Given the description of an element on the screen output the (x, y) to click on. 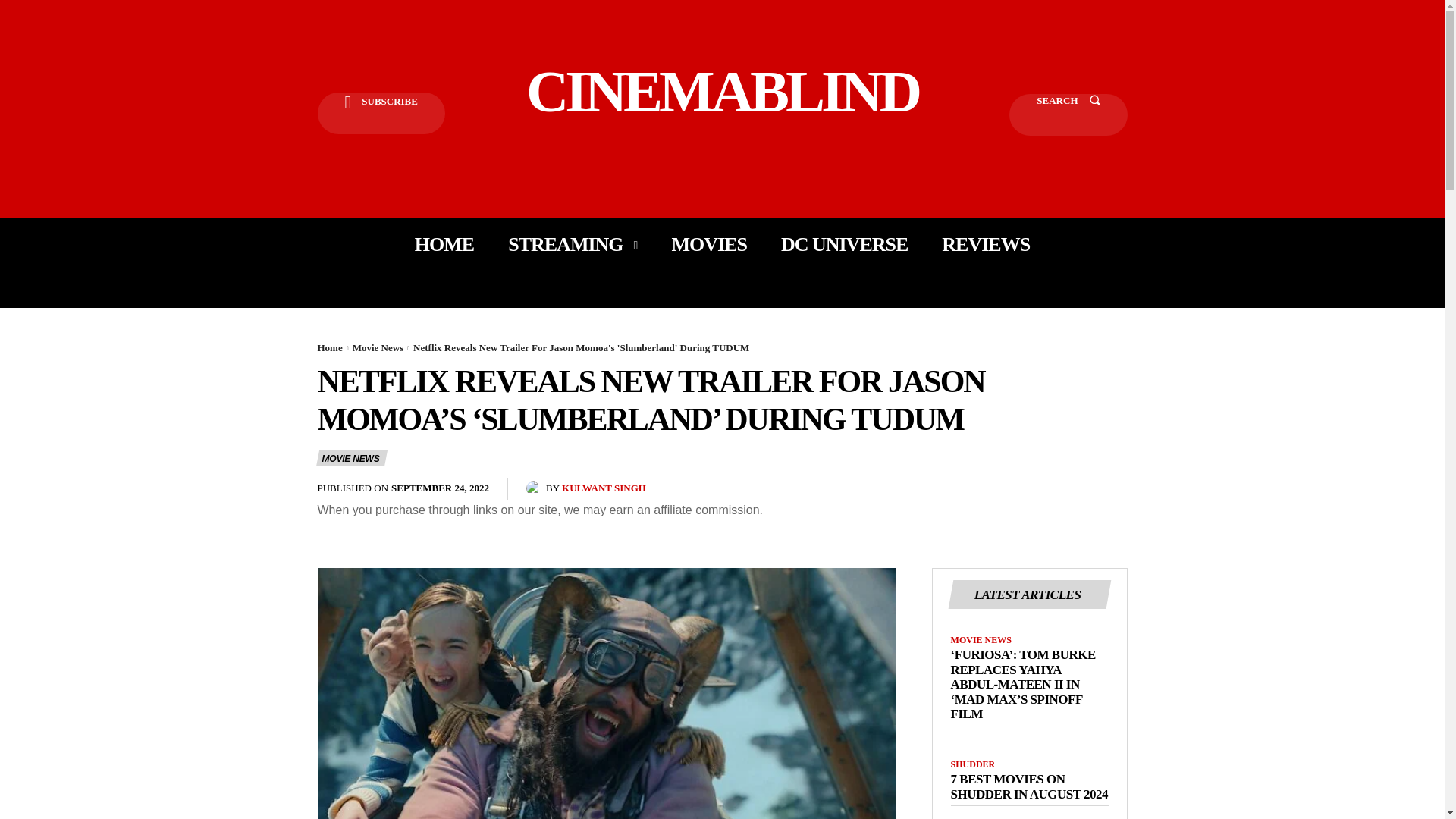
MOVIE NEWS (351, 458)
Movie News (378, 347)
SEARCH (1067, 114)
View all posts in Movie News (378, 347)
DC UNIVERSE (843, 244)
Kulwant Singh (535, 488)
HOME (444, 244)
REVIEWS (985, 244)
STREAMING (572, 244)
SUBSCRIBE (380, 113)
Home (329, 347)
CINEMABLIND (722, 90)
KULWANT SINGH (604, 488)
MOVIES (708, 244)
